Given the description of an element on the screen output the (x, y) to click on. 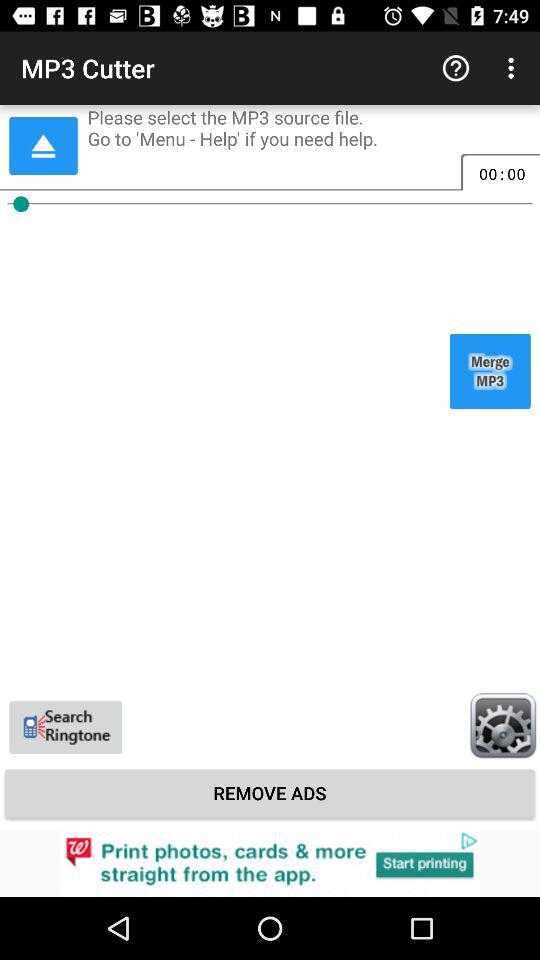
merge mp3 files (489, 371)
